Given the description of an element on the screen output the (x, y) to click on. 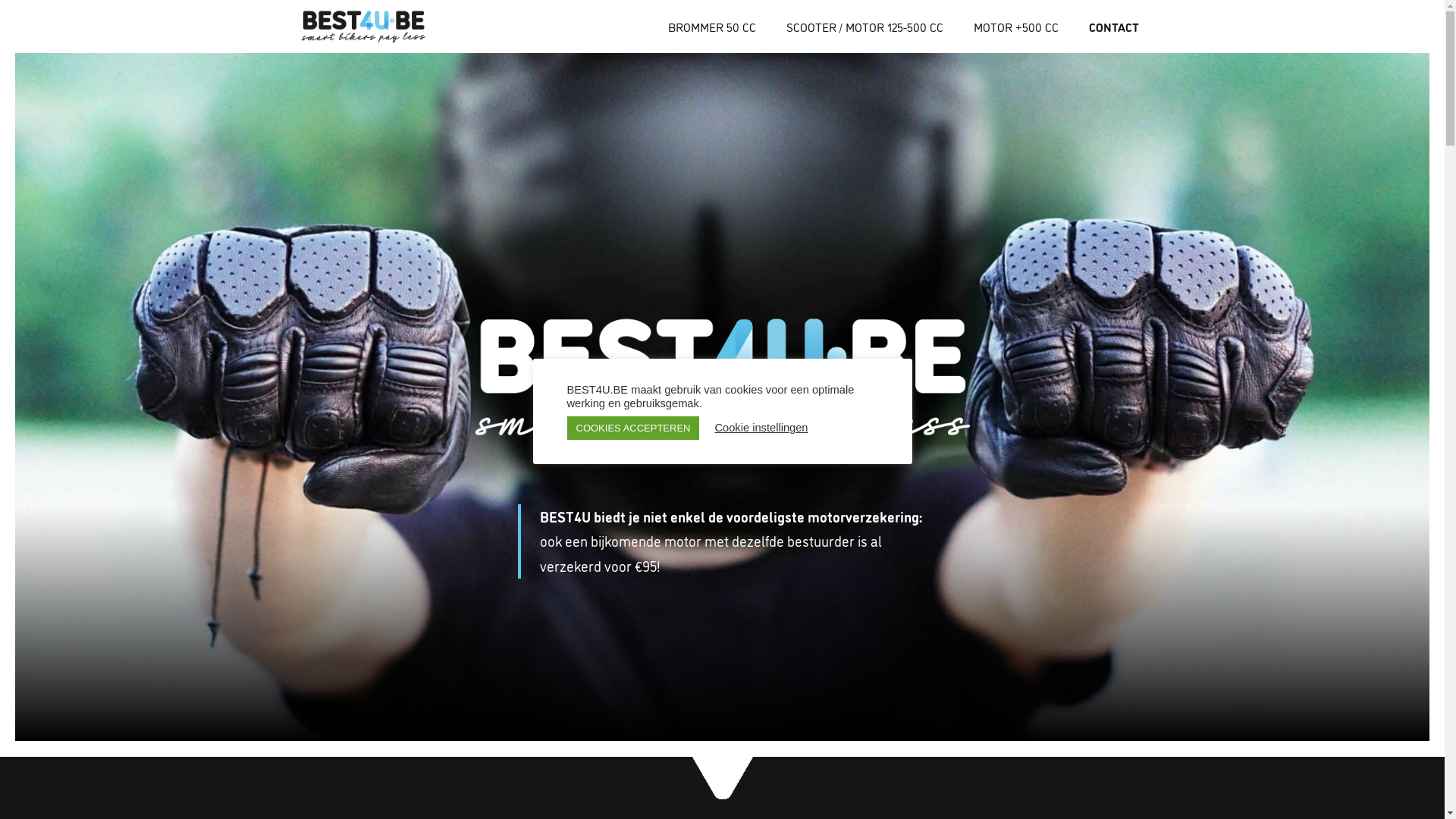
COOKIES ACCEPTEREN Element type: text (633, 427)
SCOOTER / MOTOR 125-500 CC Element type: text (864, 26)
MOTOR +500 CC Element type: text (1015, 26)
CONTACT Element type: text (1113, 26)
Cookie instellingen Element type: text (760, 427)
BROMMER 50 CC Element type: text (711, 26)
